Given the description of an element on the screen output the (x, y) to click on. 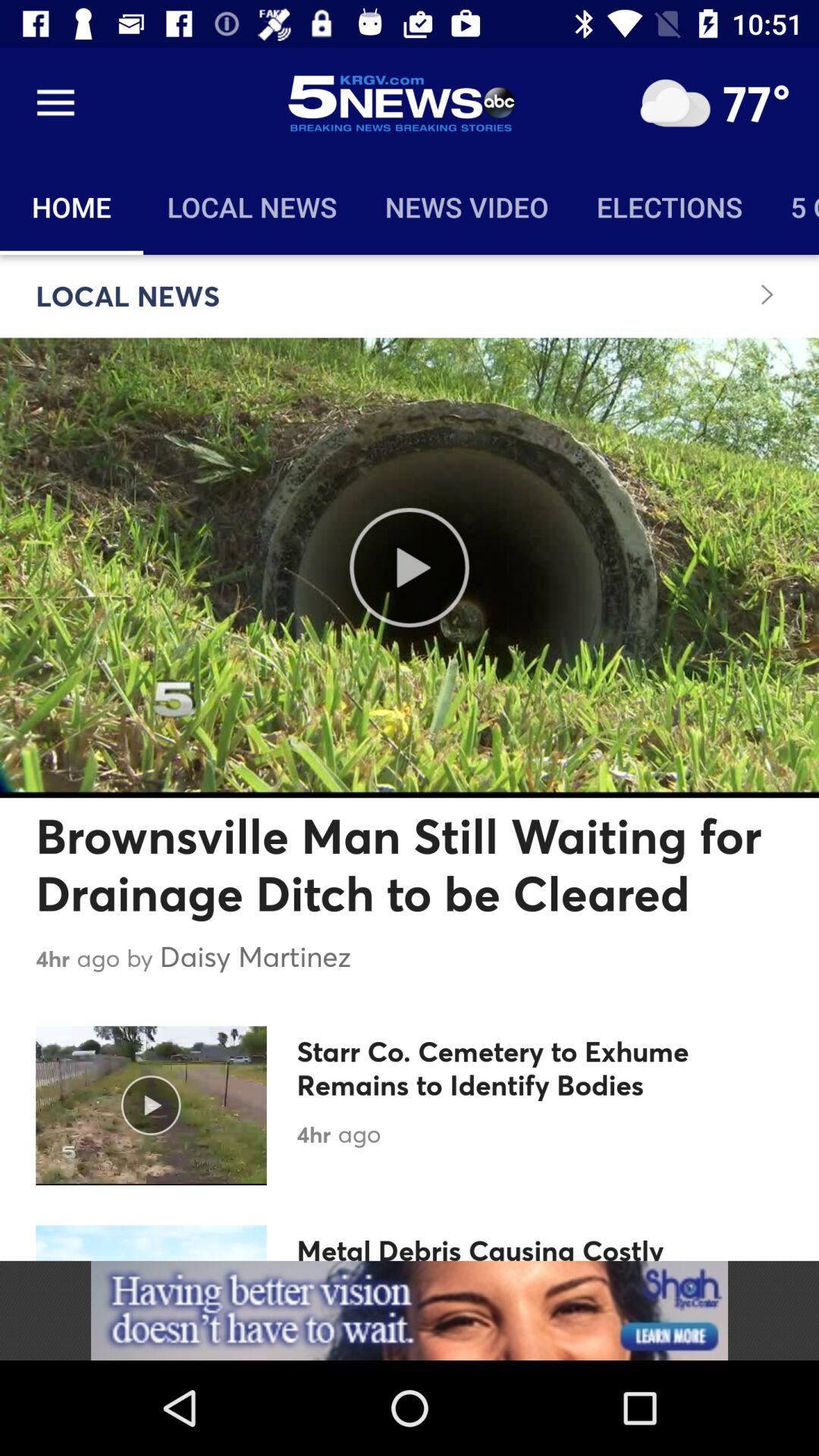
know about the advertisement (409, 1310)
